Given the description of an element on the screen output the (x, y) to click on. 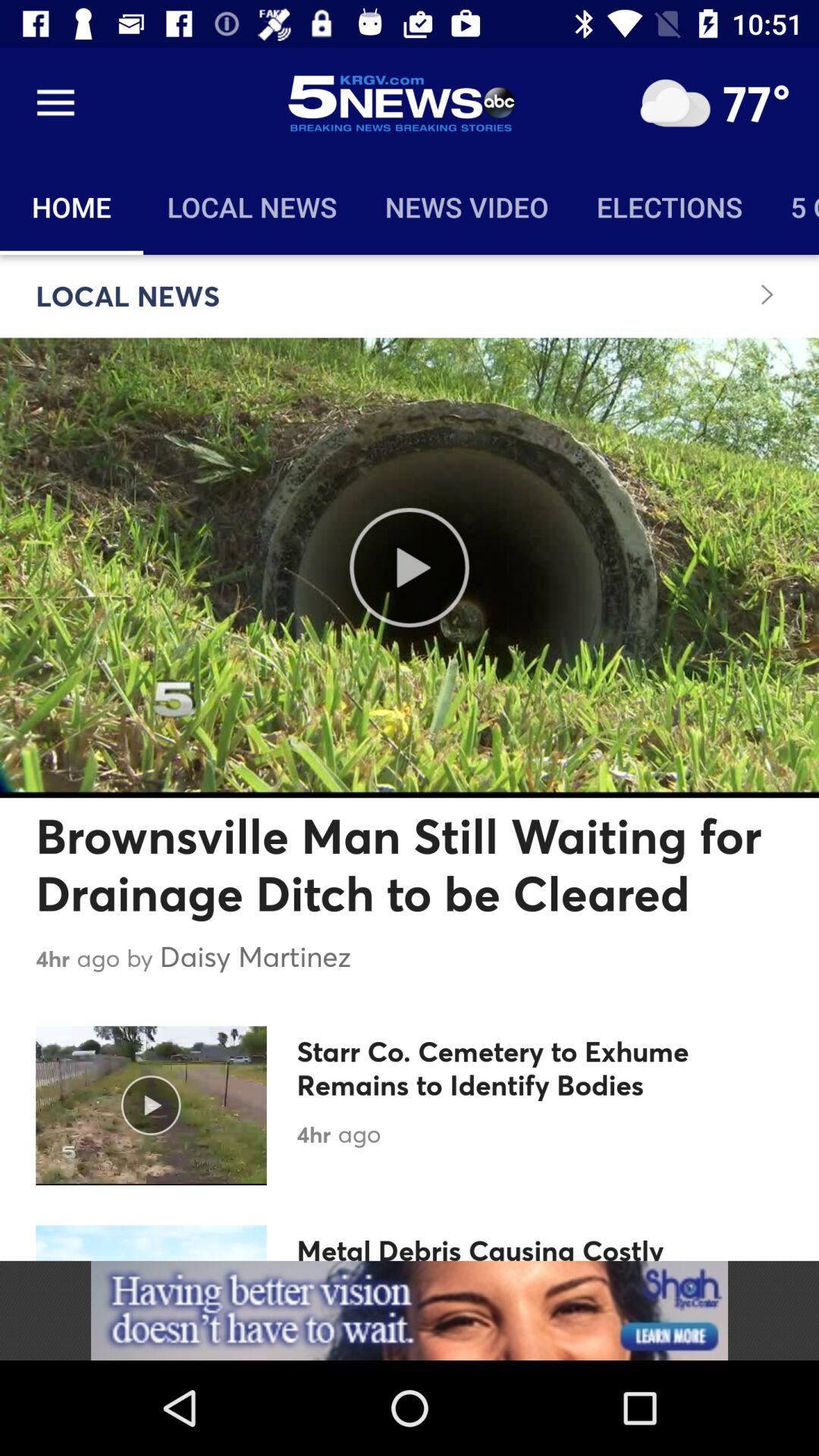
know about the advertisement (409, 1310)
